Given the description of an element on the screen output the (x, y) to click on. 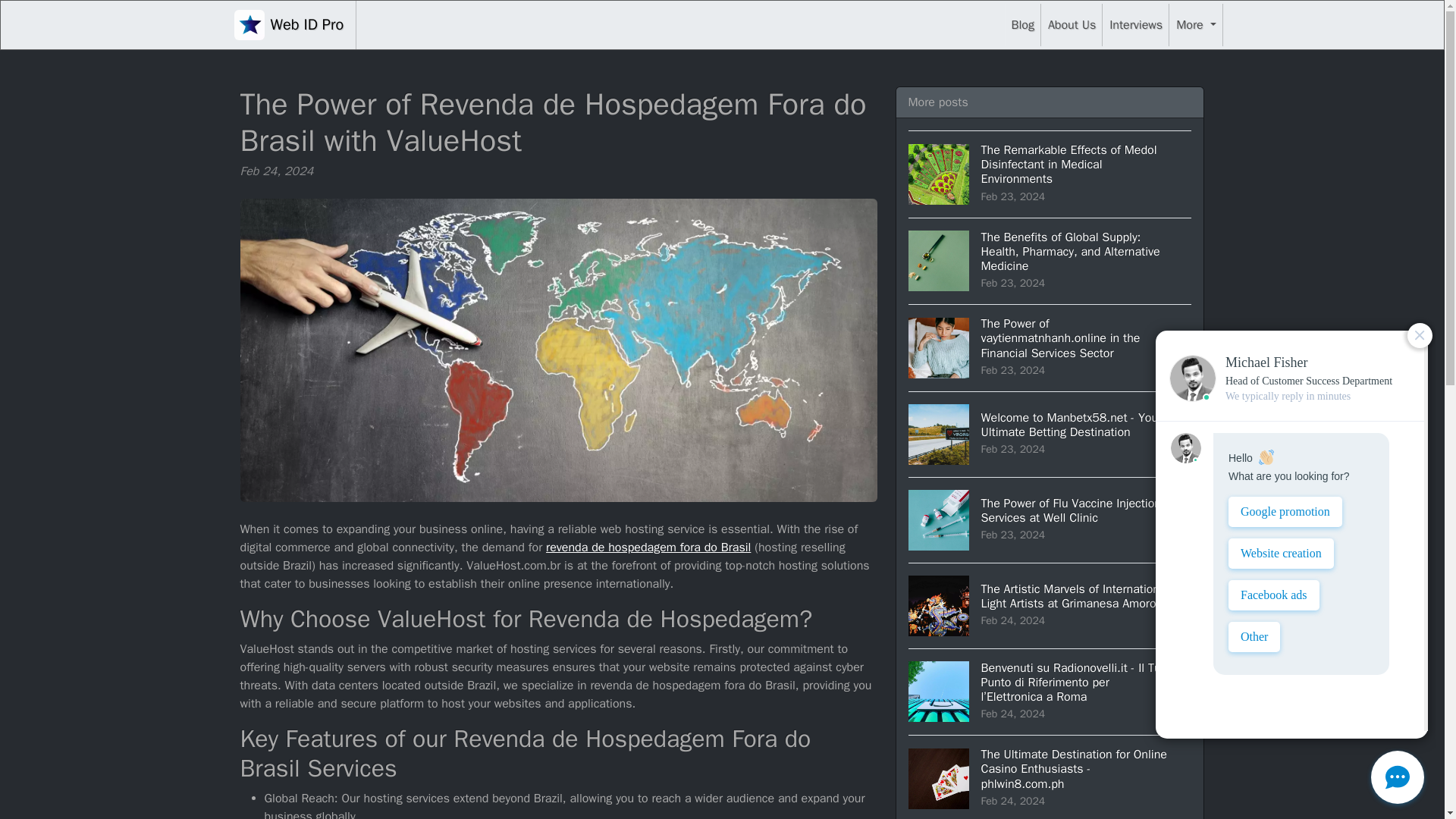
Blog (1022, 24)
revenda de hospedagem fora do Brasil (648, 547)
About Us (1071, 24)
More (1196, 24)
Web ID Pro (288, 24)
Interviews (1135, 24)
